Given the description of an element on the screen output the (x, y) to click on. 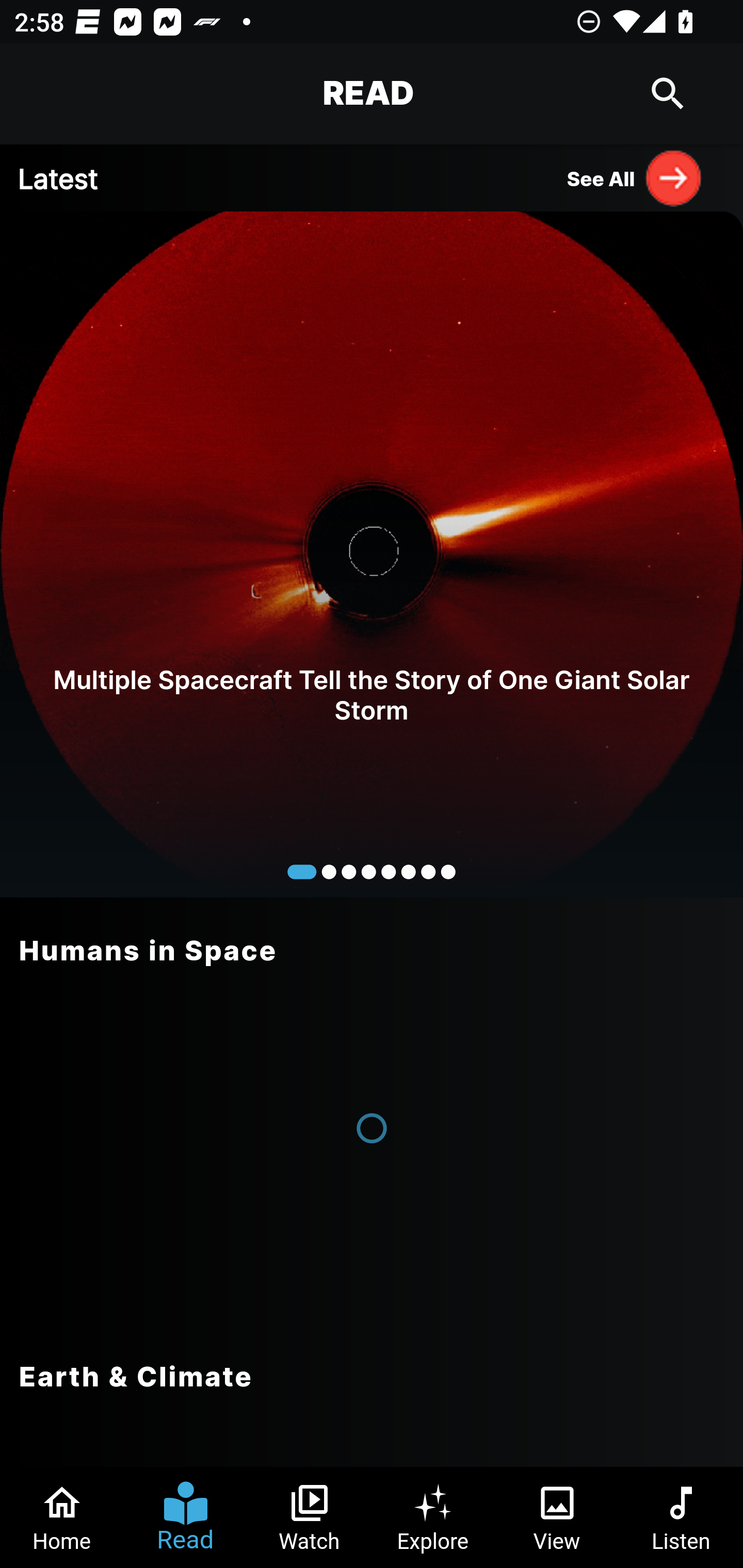
See All (634, 177)
Home
Tab 1 of 6 (62, 1517)
Read
Tab 2 of 6 (185, 1517)
Watch
Tab 3 of 6 (309, 1517)
Explore
Tab 4 of 6 (433, 1517)
View
Tab 5 of 6 (556, 1517)
Listen
Tab 6 of 6 (680, 1517)
